Given the description of an element on the screen output the (x, y) to click on. 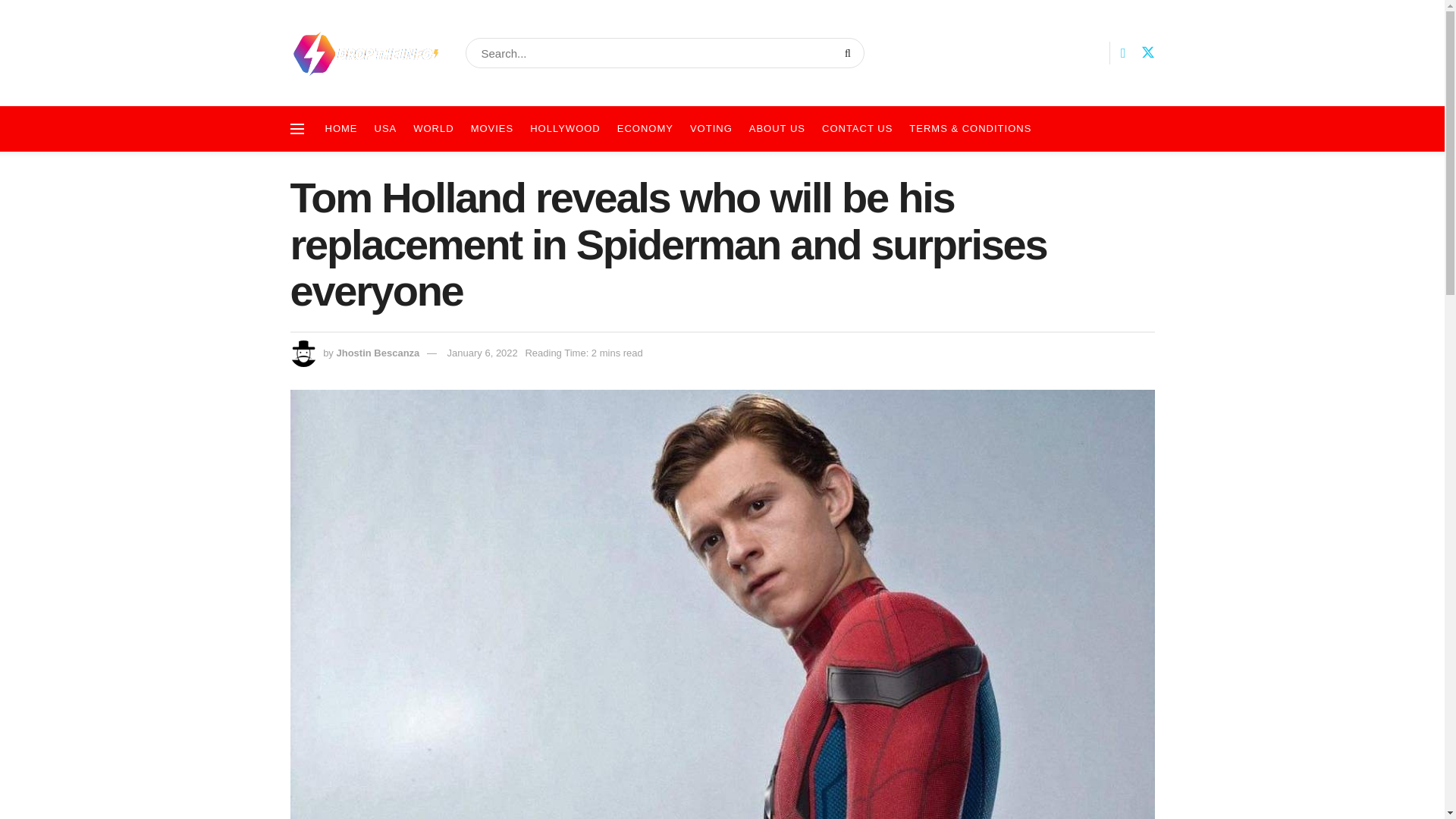
ABOUT US (777, 128)
CONTACT US (857, 128)
HOLLYWOOD (564, 128)
ECONOMY (644, 128)
MOVIES (491, 128)
VOTING (711, 128)
Jhostin Bescanza (377, 352)
January 6, 2022 (482, 352)
